Given the description of an element on the screen output the (x, y) to click on. 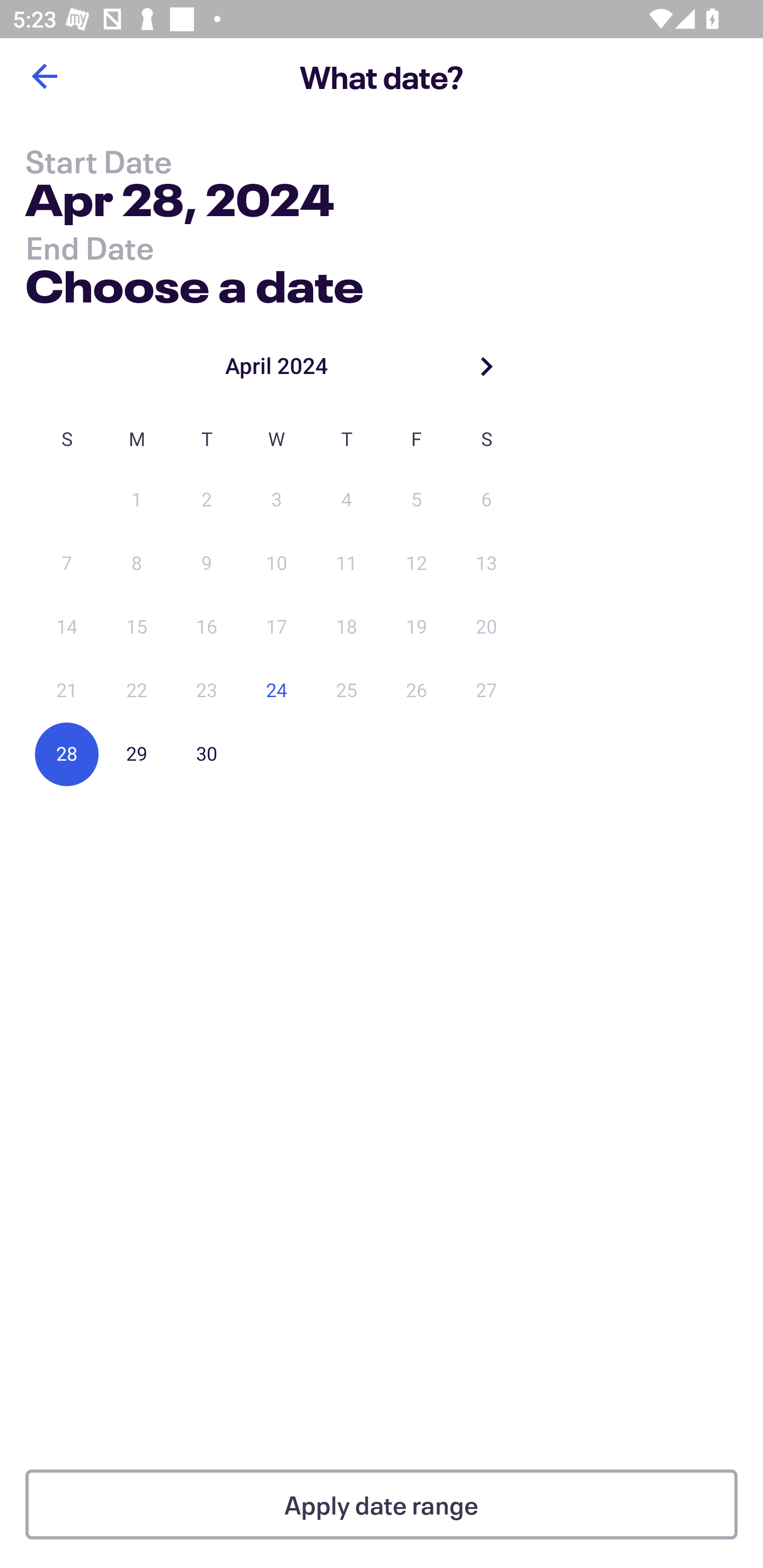
Back button (44, 75)
Apr 28, 2024 (179, 203)
Choose a date (194, 282)
Next month (486, 365)
1 01 April 2024 (136, 499)
2 02 April 2024 (206, 499)
3 03 April 2024 (276, 499)
4 04 April 2024 (346, 499)
5 05 April 2024 (416, 499)
6 06 April 2024 (486, 499)
7 07 April 2024 (66, 563)
8 08 April 2024 (136, 563)
9 09 April 2024 (206, 563)
10 10 April 2024 (276, 563)
11 11 April 2024 (346, 563)
12 12 April 2024 (416, 563)
13 13 April 2024 (486, 563)
14 14 April 2024 (66, 626)
15 15 April 2024 (136, 626)
16 16 April 2024 (206, 626)
17 17 April 2024 (276, 626)
18 18 April 2024 (346, 626)
19 19 April 2024 (416, 626)
20 20 April 2024 (486, 626)
21 21 April 2024 (66, 690)
22 22 April 2024 (136, 690)
23 23 April 2024 (206, 690)
24 24 April 2024 (276, 690)
25 25 April 2024 (346, 690)
26 26 April 2024 (416, 690)
27 27 April 2024 (486, 690)
28 28 April 2024 (66, 753)
29 29 April 2024 (136, 753)
30 30 April 2024 (206, 753)
Apply date range (381, 1504)
